Given the description of an element on the screen output the (x, y) to click on. 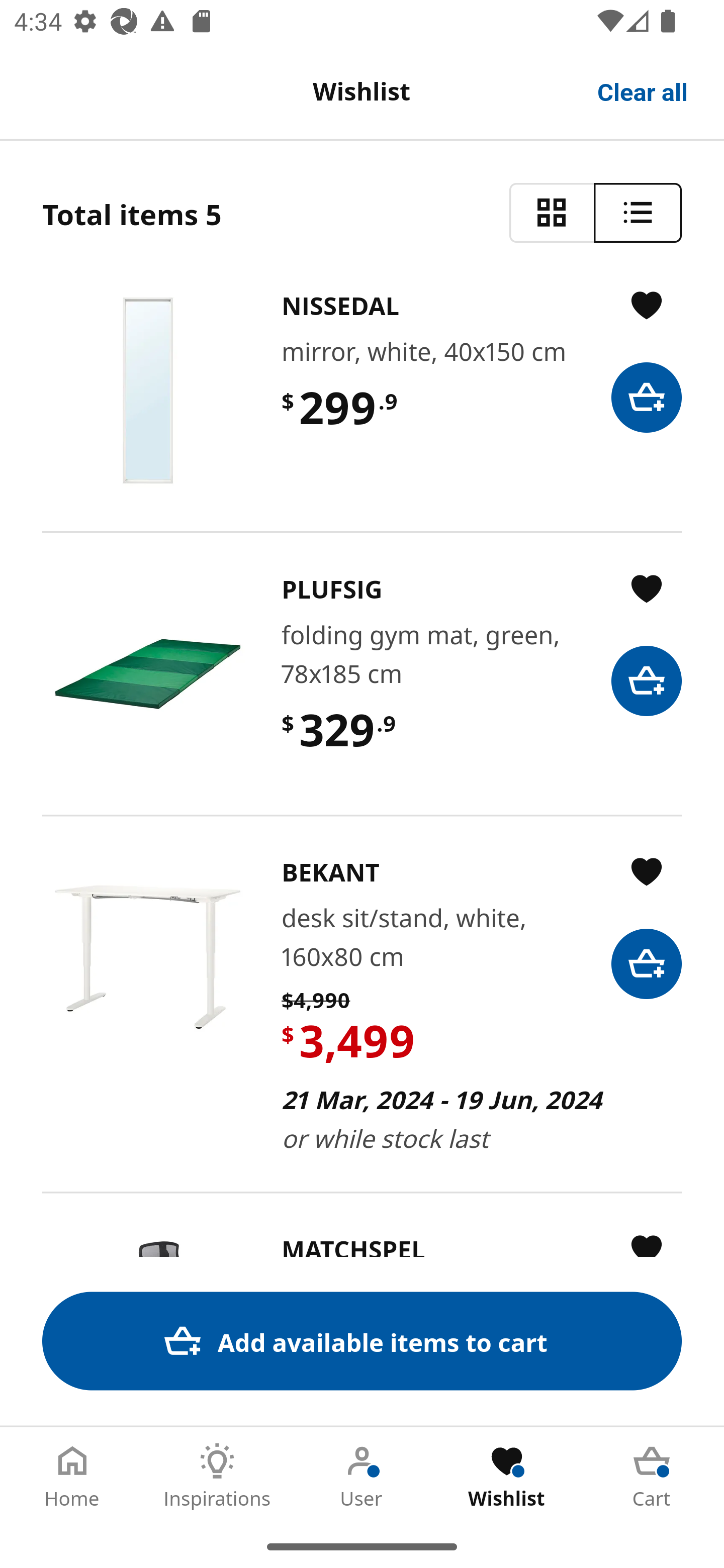
Clear all (643, 90)
Add available items to cart (361, 1341)
Home
Tab 1 of 5 (72, 1476)
Inspirations
Tab 2 of 5 (216, 1476)
User
Tab 3 of 5 (361, 1476)
Wishlist
Tab 4 of 5 (506, 1476)
Cart
Tab 5 of 5 (651, 1476)
